Given the description of an element on the screen output the (x, y) to click on. 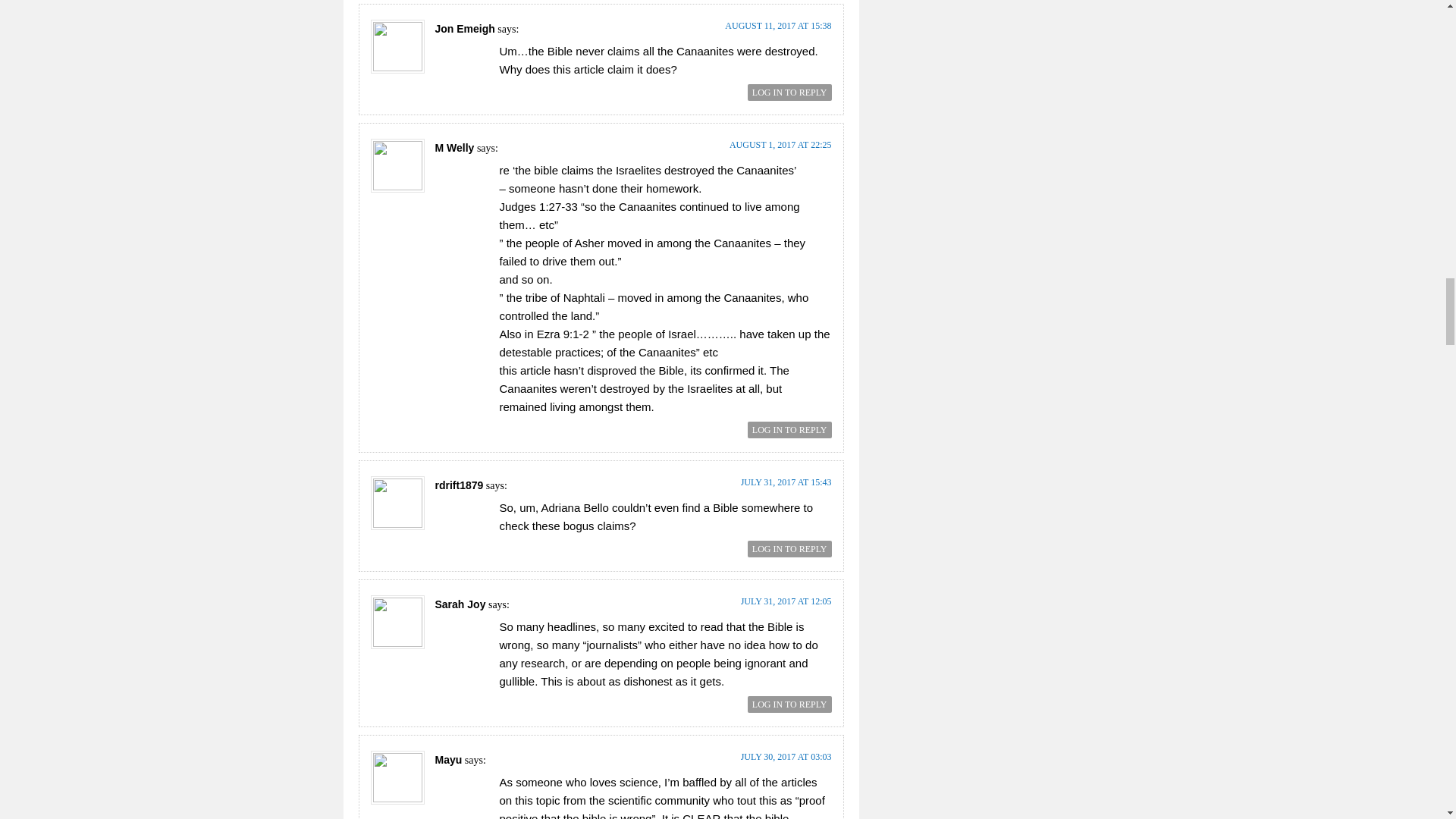
LOG IN TO REPLY (789, 704)
JULY 31, 2017 AT 15:43 (786, 481)
AUGUST 1, 2017 AT 22:25 (780, 144)
LOG IN TO REPLY (789, 548)
JULY 31, 2017 AT 12:05 (786, 601)
LOG IN TO REPLY (789, 92)
AUGUST 11, 2017 AT 15:38 (778, 25)
JULY 30, 2017 AT 03:03 (786, 756)
LOG IN TO REPLY (789, 429)
